Given the description of an element on the screen output the (x, y) to click on. 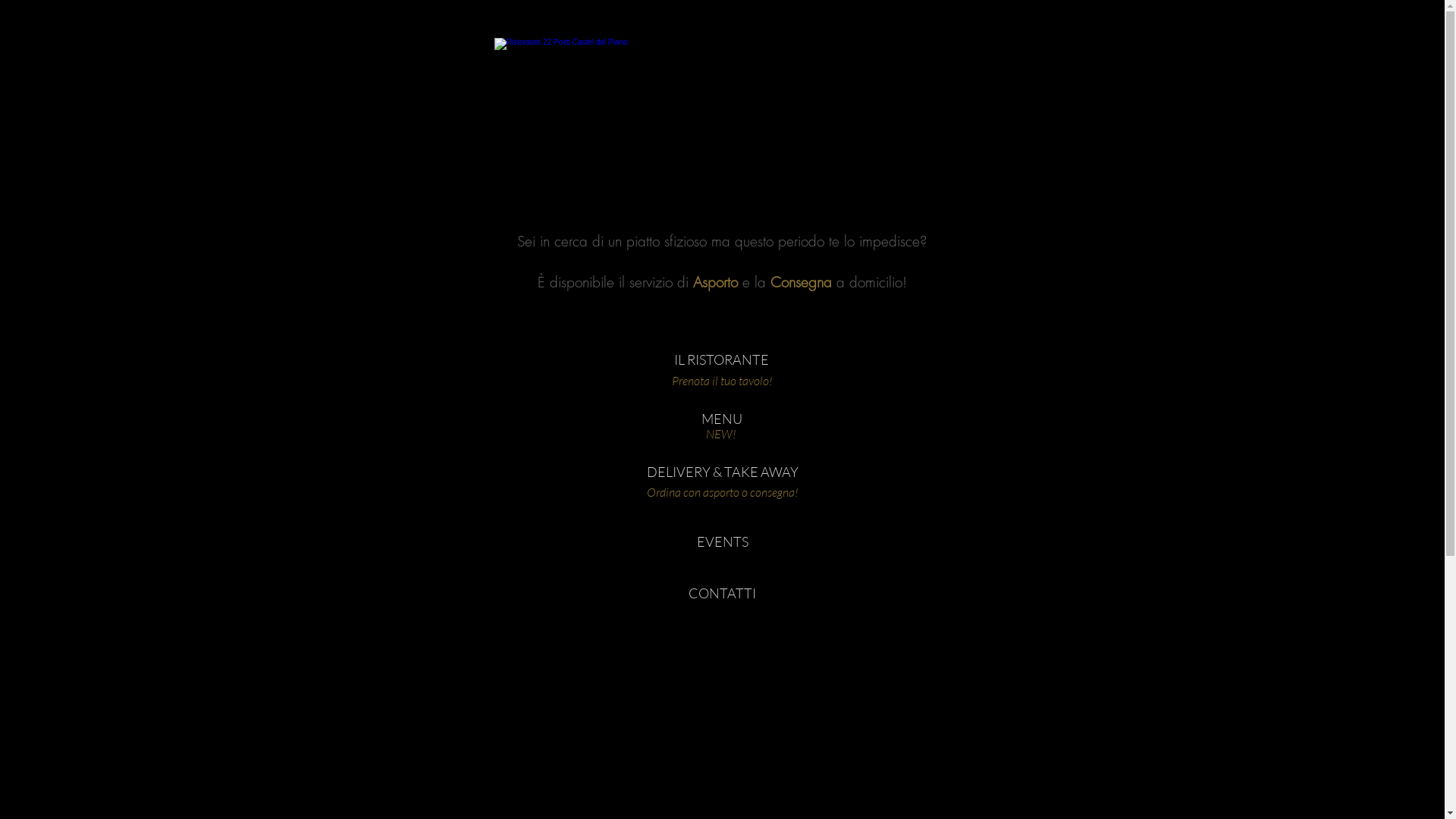
CONTATTI Element type: text (721, 593)
IL RISTORANTE Element type: text (721, 360)
DELIVERY & TAKE AWAY Element type: text (721, 472)
MENU Element type: text (721, 419)
EVENTS Element type: text (721, 542)
Ristorante 22 Posti Castel del Piano Element type: hover (720, 110)
